Given the description of an element on the screen output the (x, y) to click on. 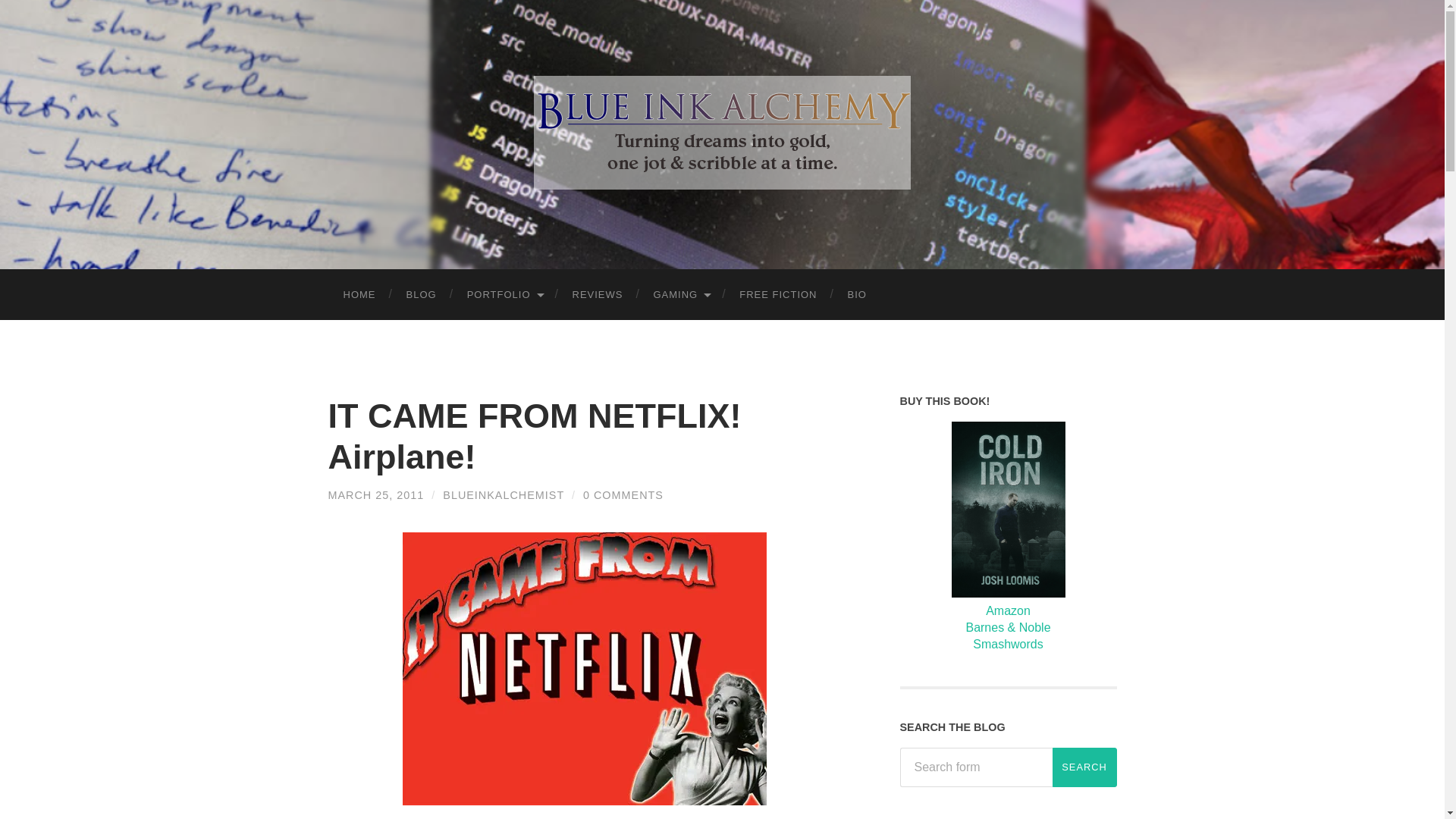
FREE FICTION (777, 294)
BLUEINKALCHEMIST (503, 494)
Posts by BlueInkAlchemist (503, 494)
Search (1084, 767)
IT CAME FROM NETFLIX! Airplane! (534, 435)
REVIEWS (598, 294)
BLOG (421, 294)
0 COMMENTS (623, 494)
GAMING (680, 294)
IT CAME FROM NETFLIX! Airplane! (534, 435)
